Given the description of an element on the screen output the (x, y) to click on. 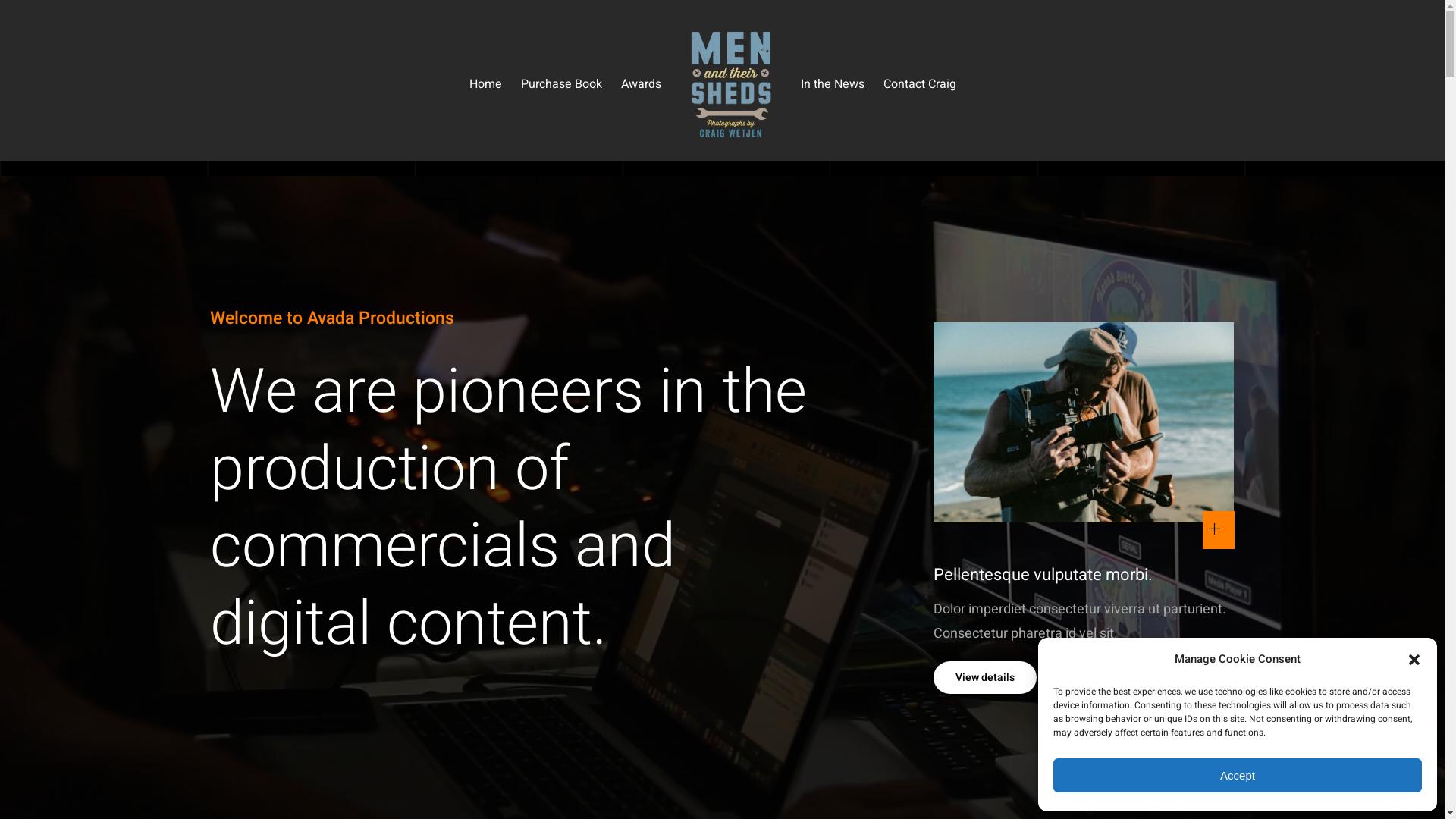
Contact Craig Element type: text (919, 84)
Purchase Book Element type: text (561, 84)
Accept Element type: text (1237, 775)
Home Element type: text (485, 84)
Awards Element type: text (641, 84)
View details Element type: text (984, 677)
In the News Element type: text (832, 84)
